Given the description of an element on the screen output the (x, y) to click on. 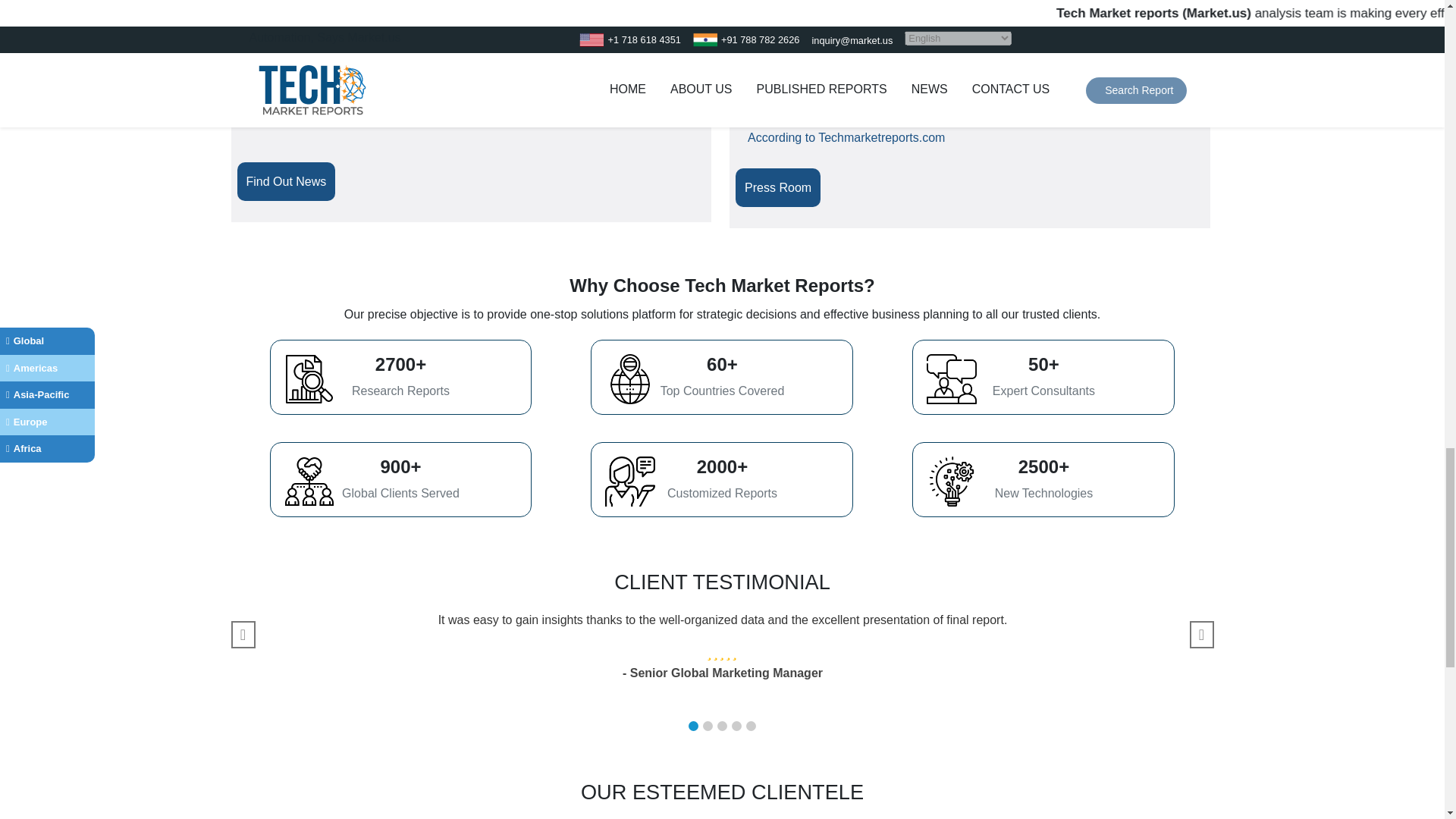
8 Best Most Popular Virtual Fitness Applications for 2023 (409, 77)
Find Out News (286, 181)
